Given the description of an element on the screen output the (x, y) to click on. 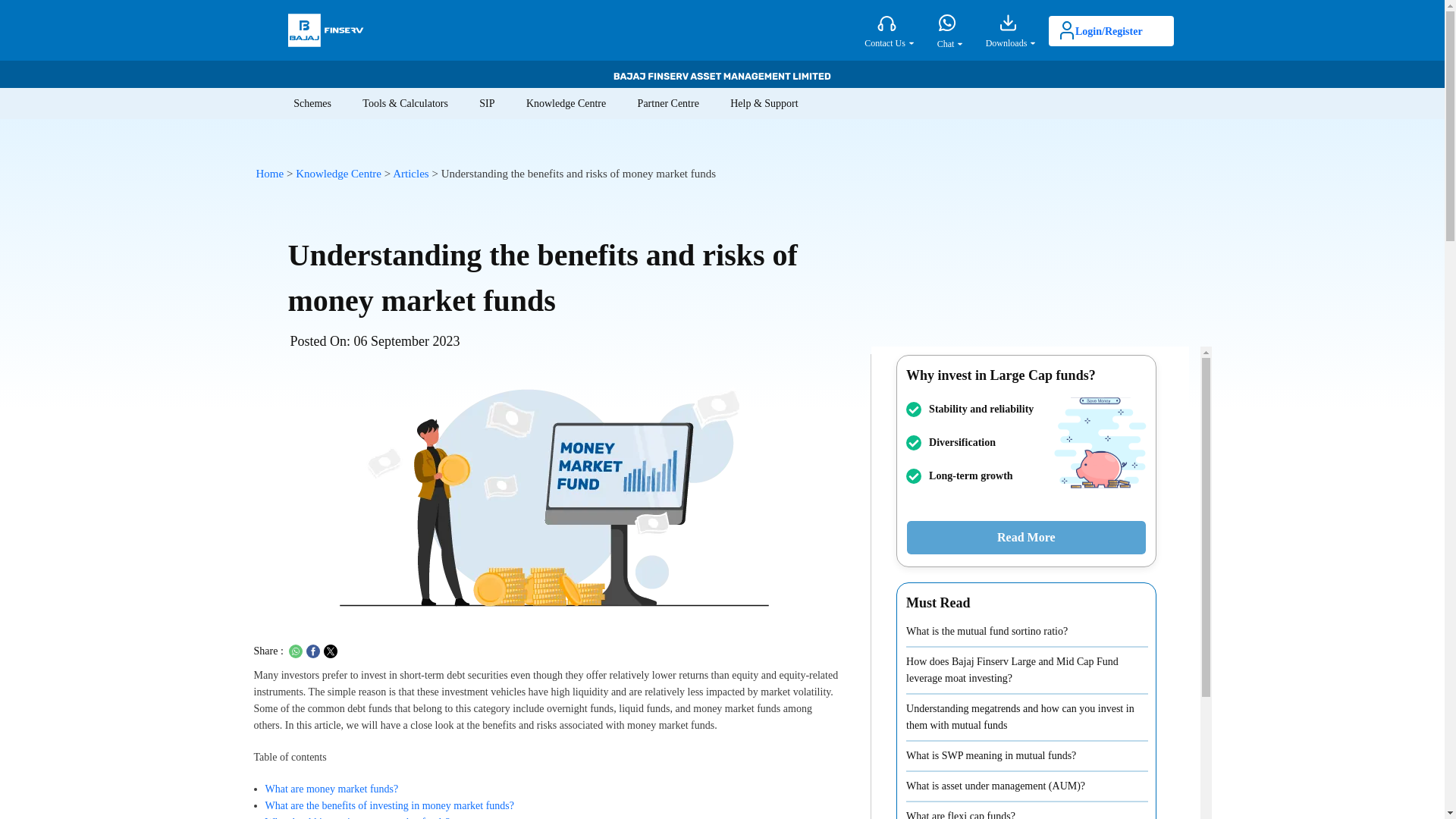
Schemes (312, 102)
